Given the description of an element on the screen output the (x, y) to click on. 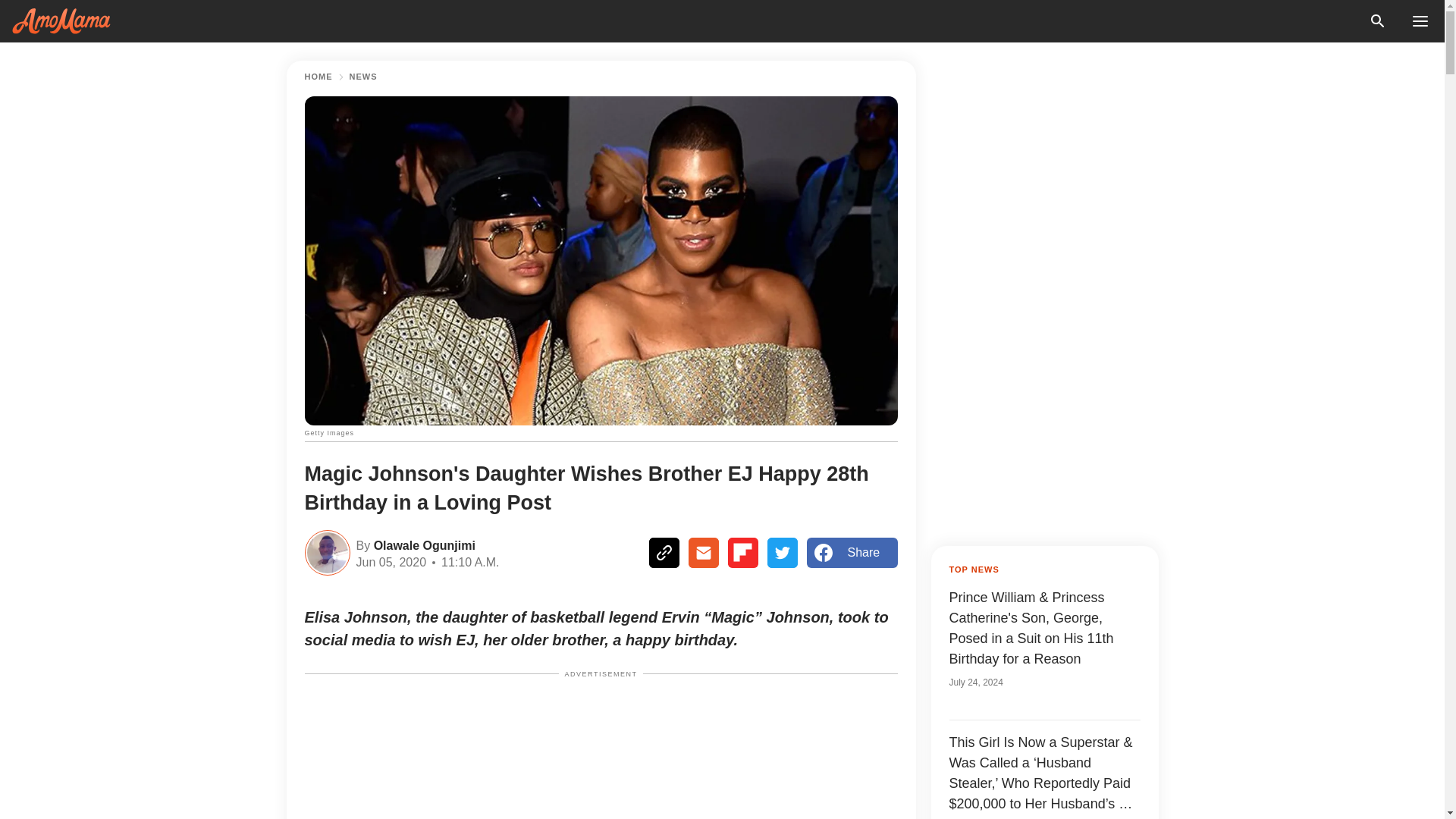
NEWS (363, 76)
HOME (318, 76)
Olawale Ogunjimi (422, 544)
